Given the description of an element on the screen output the (x, y) to click on. 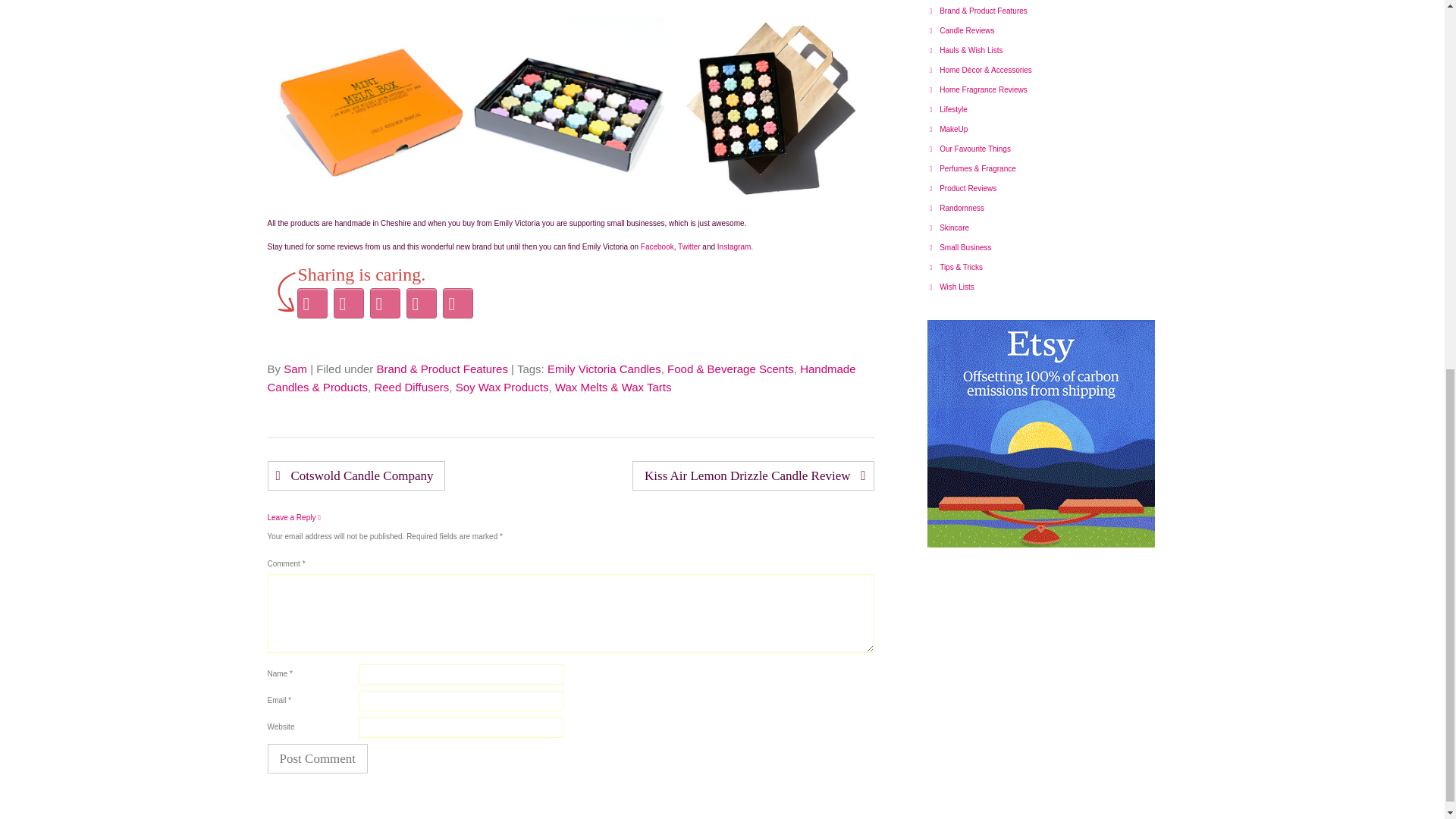
Kiss Air Lemon Drizzle Candle Review (752, 475)
Email This (421, 303)
Facebook (348, 303)
Facebook (657, 246)
Emily Victoria Candles (604, 368)
Post Comment (317, 758)
Cotswold Candle Company (355, 475)
Instagram (734, 246)
Sam (295, 368)
Post Comment (317, 758)
Twitter (689, 246)
Reed Diffusers (411, 386)
Soy Wax Products (501, 386)
More Options (457, 303)
Pinterest (384, 303)
